Given the description of an element on the screen output the (x, y) to click on. 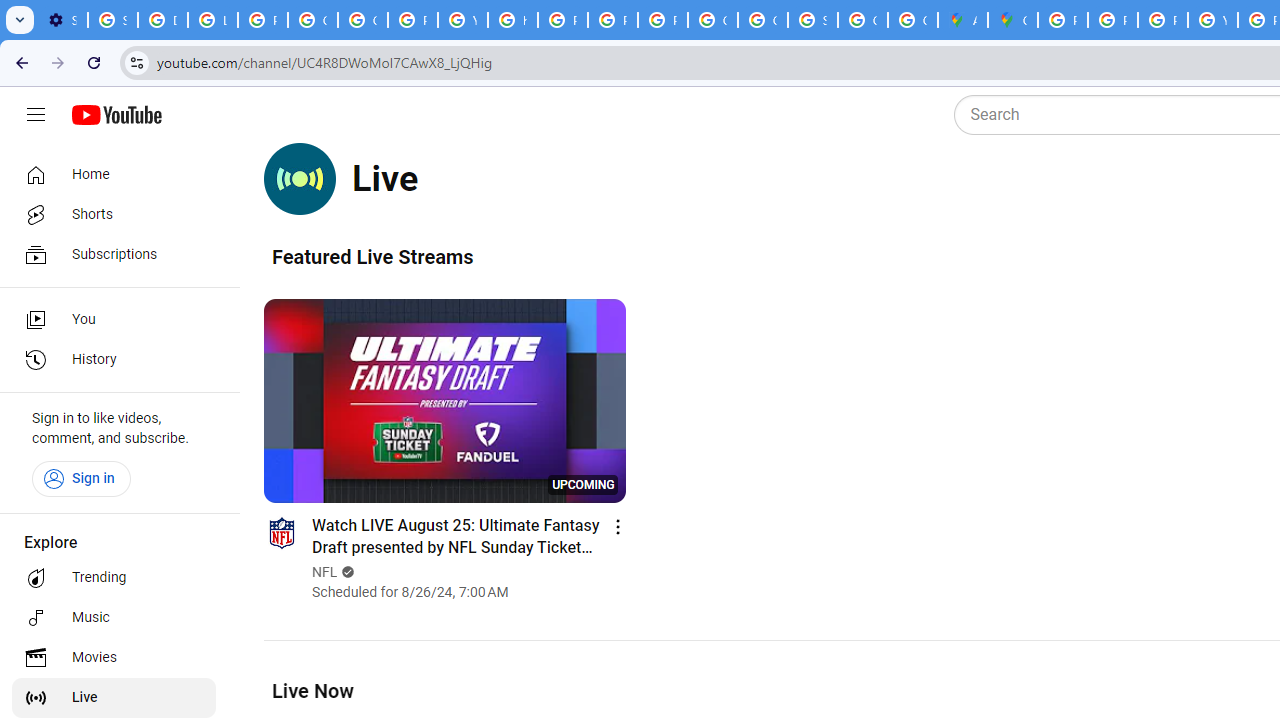
Sign in - Google Accounts (813, 20)
YouTube (1212, 20)
Policy Accountability and Transparency - Transparency Center (1062, 20)
